Given the description of an element on the screen output the (x, y) to click on. 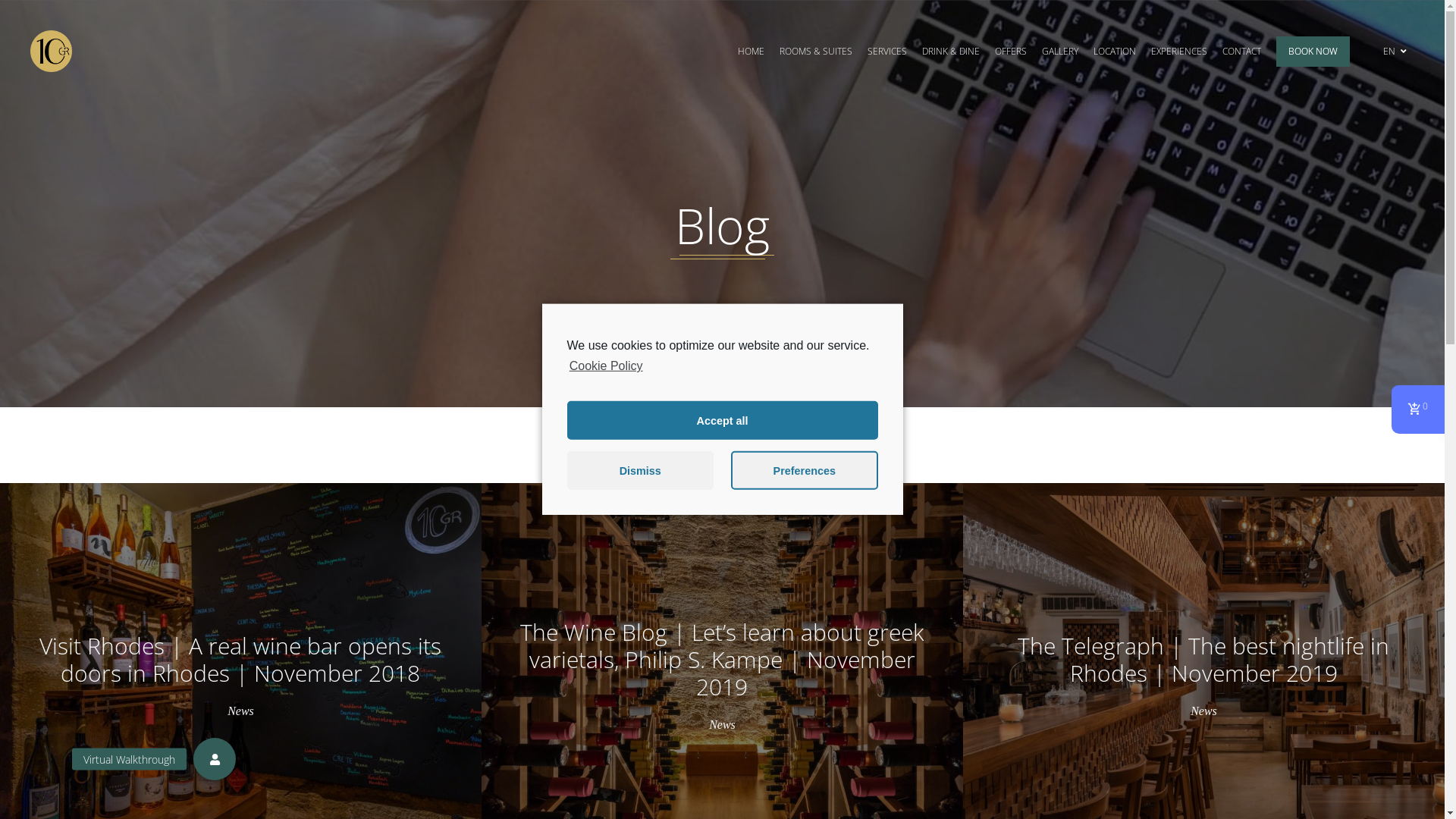
Cookie Policy Element type: text (605, 365)
+30 22410 20910 Element type: text (612, 497)
Contact Element type: text (982, 541)
Wine by the Glass Element type: text (733, 681)
SERVICES Element type: text (886, 50)
HOME Element type: text (750, 50)
LOCATION Element type: text (1114, 50)
Virtual Walkthrough Element type: text (214, 758)
News Element type: text (722, 724)
News Element type: text (240, 710)
EXPERIENCES Element type: text (1179, 50)
Abouthotelier.com Element type: text (431, 757)
Cocktails Menu Element type: text (834, 681)
Menu Element type: text (583, 681)
OFFERS Element type: text (1010, 50)
Accept all Element type: text (722, 420)
ROOMS & SUITES Element type: text (815, 50)
Preferences Element type: text (804, 470)
BOOK NOW Element type: text (1312, 51)
Sign up Element type: text (762, 558)
EN Element type: text (1394, 51)
News Element type: text (1203, 710)
Wine Menu Element type: text (643, 681)
0 Element type: text (1417, 409)
GALLERY Element type: text (1059, 50)
Dismiss Element type: text (640, 470)
The Telegraph | The best nightlife in Rhodes | November 2019 Element type: text (1203, 659)
Services Element type: text (983, 519)
Location Element type: text (985, 497)
DRINK & DINE Element type: text (950, 50)
CONTACT Element type: text (1241, 50)
Accommodation Element type: text (1003, 474)
info@10grhotel.com Element type: text (593, 474)
